Given the description of an element on the screen output the (x, y) to click on. 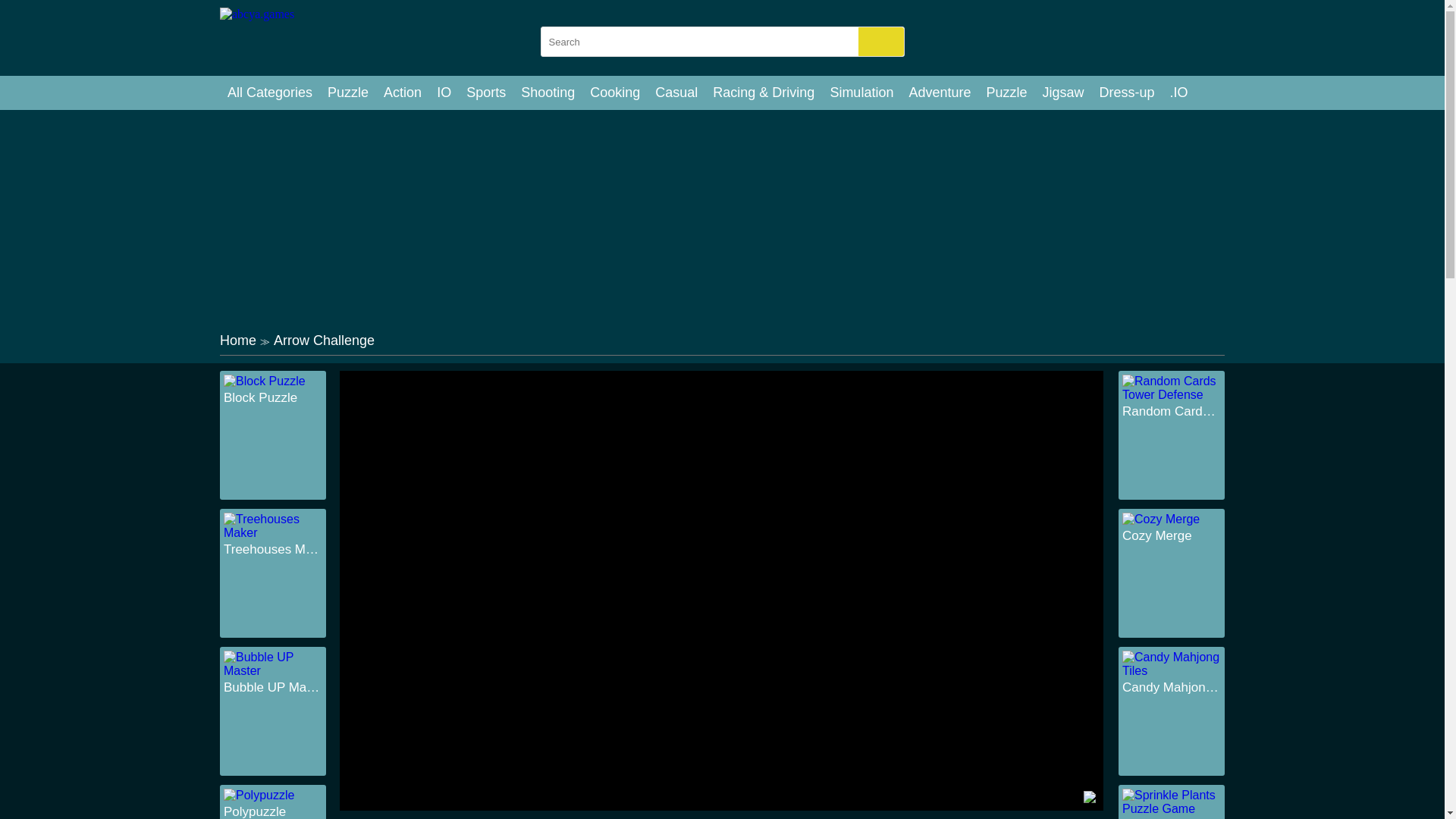
All Categories (269, 92)
Sports (485, 92)
Bubble UP Master (272, 687)
Sports (485, 92)
Polypuzzle (272, 811)
Cooking (614, 92)
Block Puzzle (272, 397)
Dress-up (1126, 92)
Shooting (547, 92)
.IO (1178, 92)
